Given the description of an element on the screen output the (x, y) to click on. 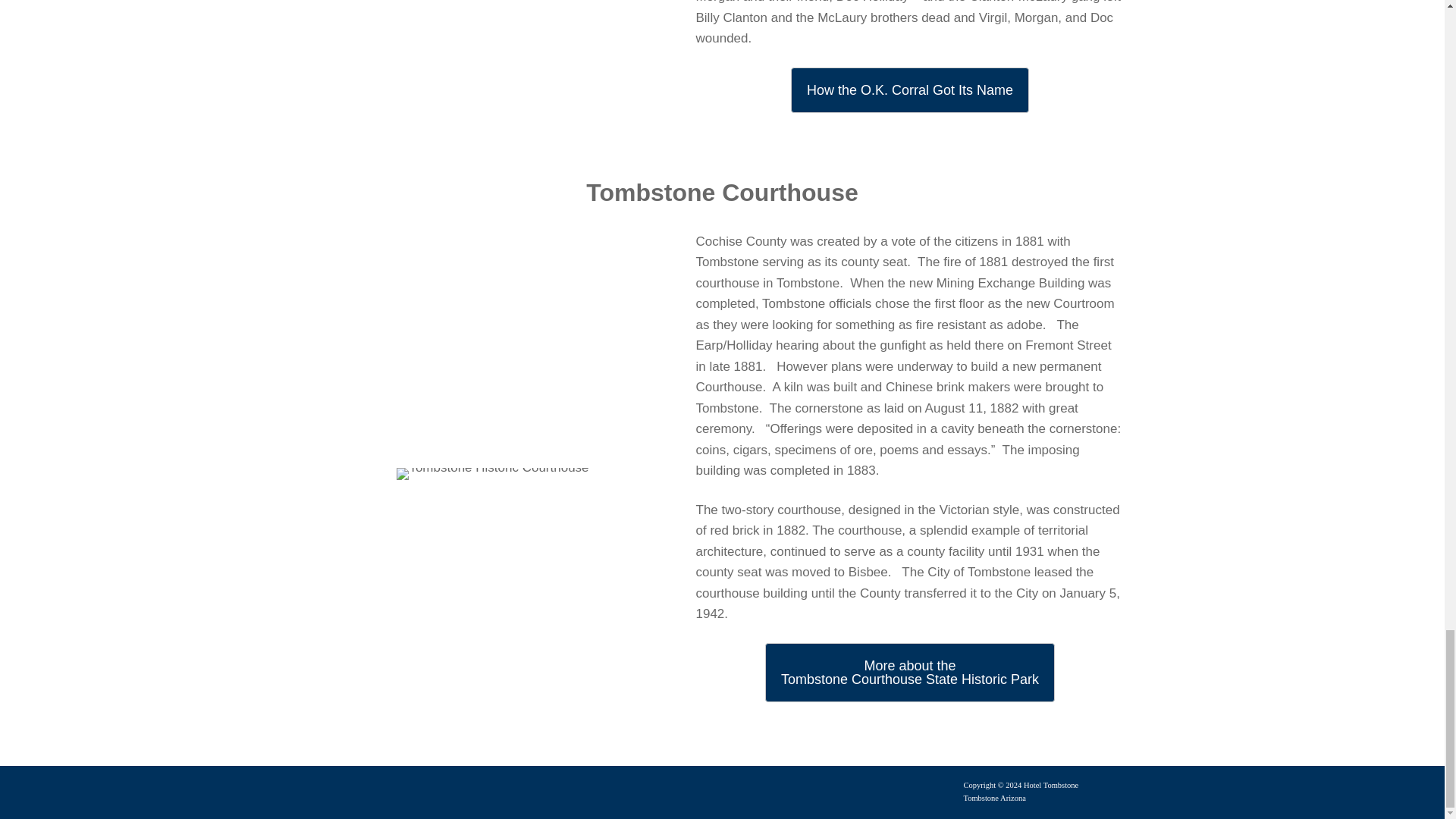
Tombstone Historic Courthouse (909, 671)
How the O.K. Corral Got Its Name (492, 473)
